Given the description of an element on the screen output the (x, y) to click on. 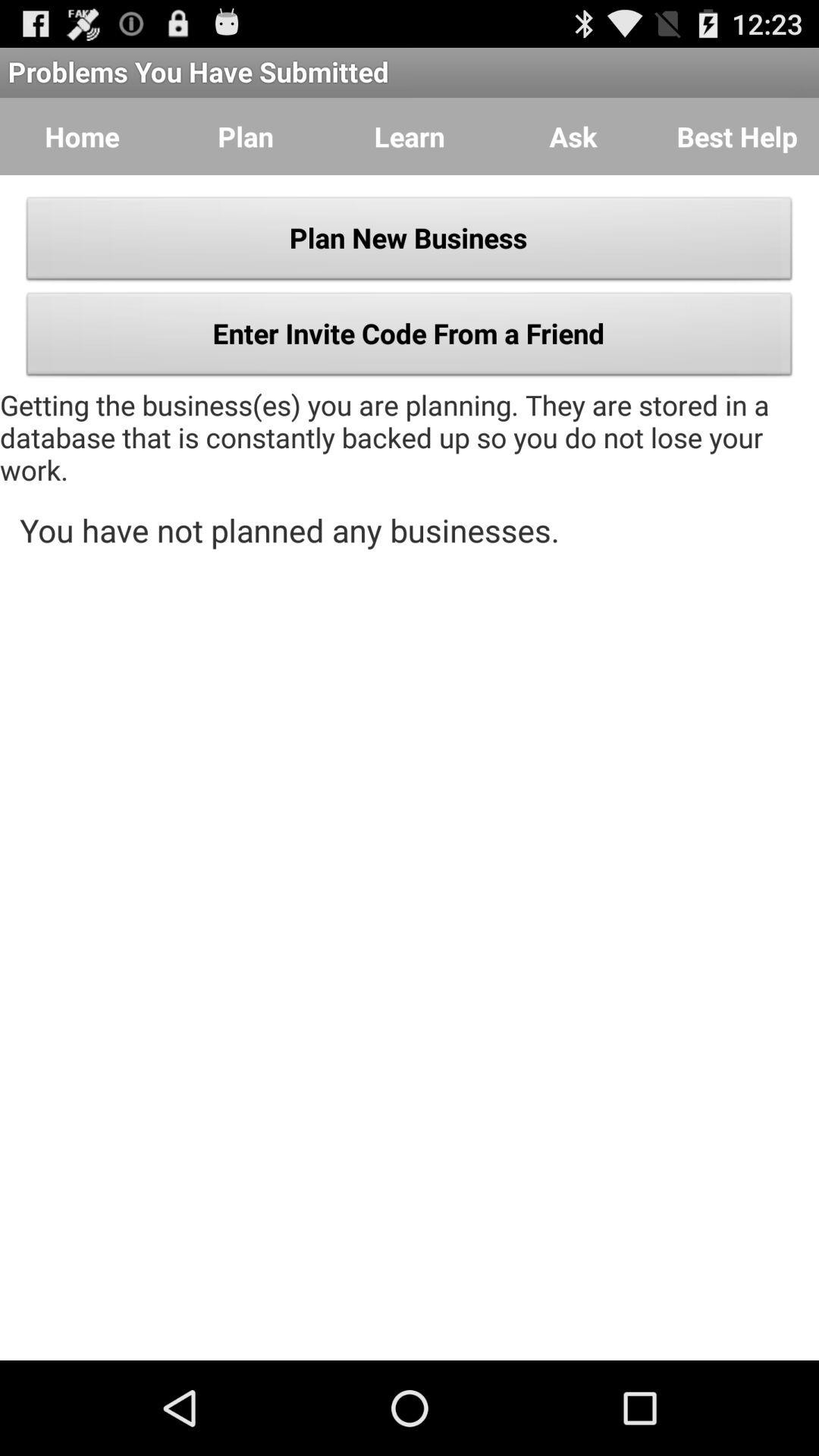
launch ask icon (573, 136)
